Given the description of an element on the screen output the (x, y) to click on. 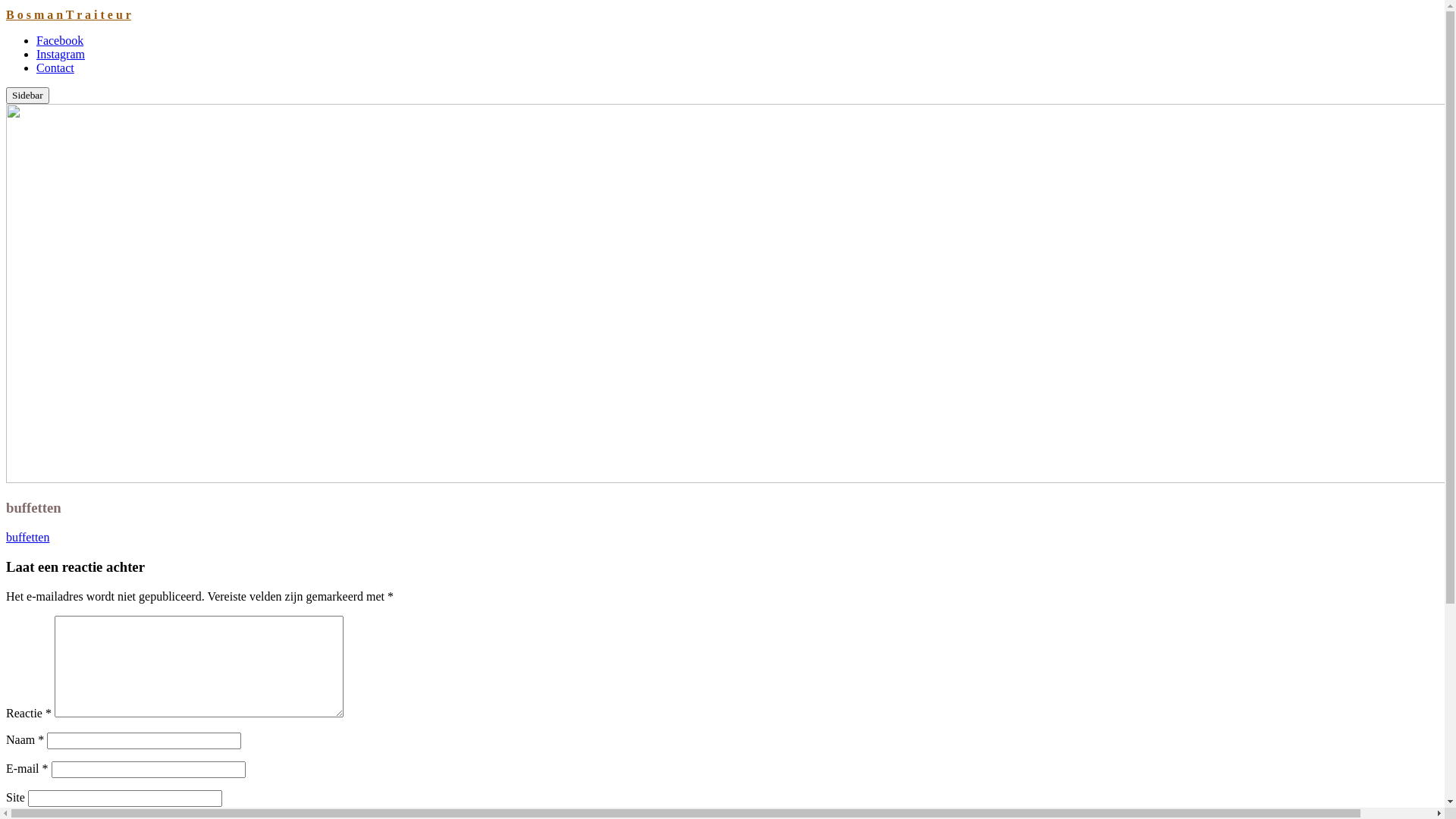
B o s m a n T r a i t e u r Element type: text (68, 14)
Facebook Element type: text (59, 40)
buffetten Element type: text (27, 536)
Sidebar Element type: text (27, 95)
Ga direct naar de inhoud Element type: text (5, 7)
Instagram Element type: text (60, 53)
Contact Element type: text (55, 67)
